Given the description of an element on the screen output the (x, y) to click on. 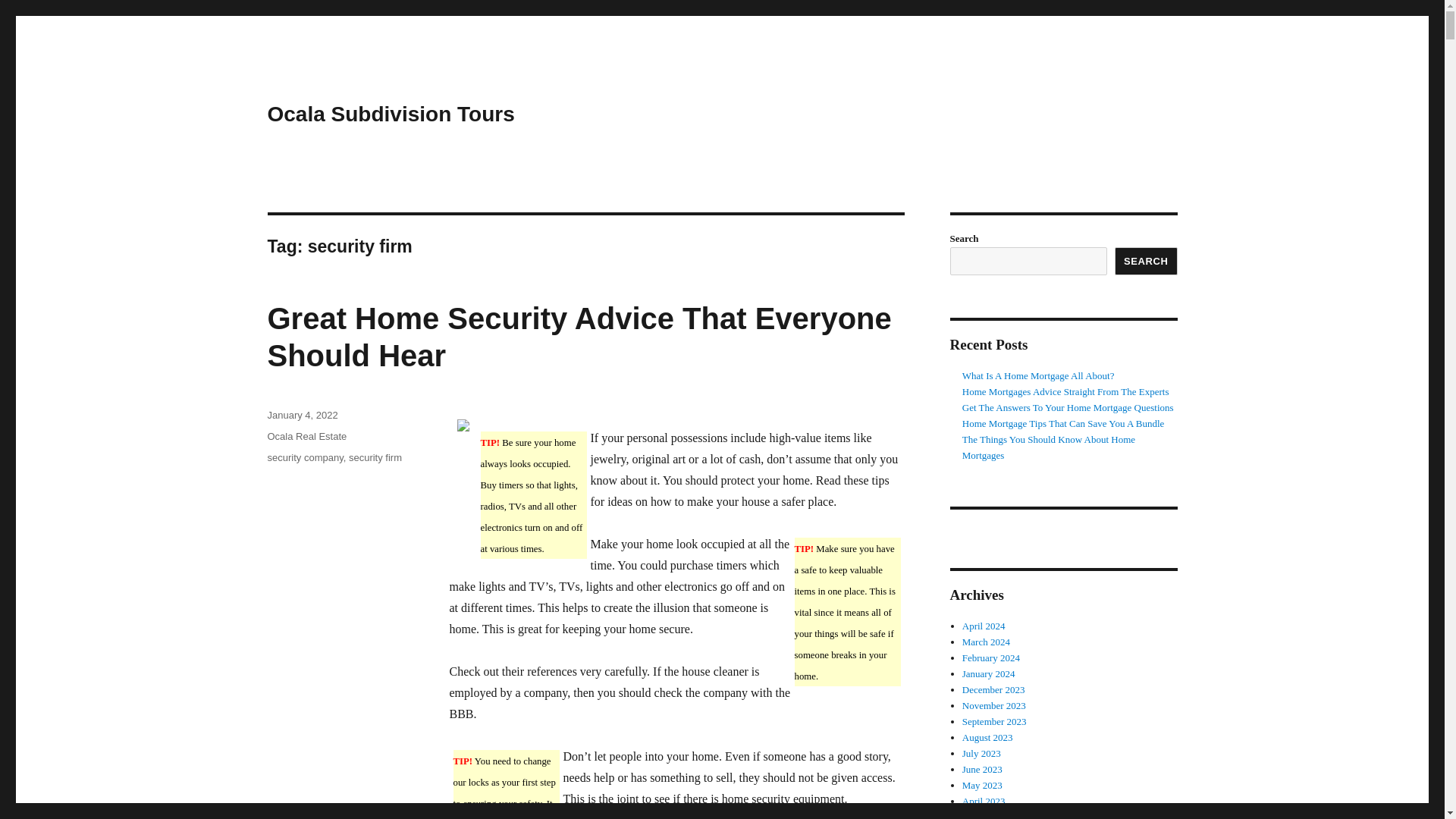
Ocala Subdivision Tours (389, 114)
Ocala Real Estate (306, 436)
security firm (375, 457)
January 4, 2022 (301, 414)
Great Home Security Advice That Everyone Should Hear (578, 337)
security company (304, 457)
